Given the description of an element on the screen output the (x, y) to click on. 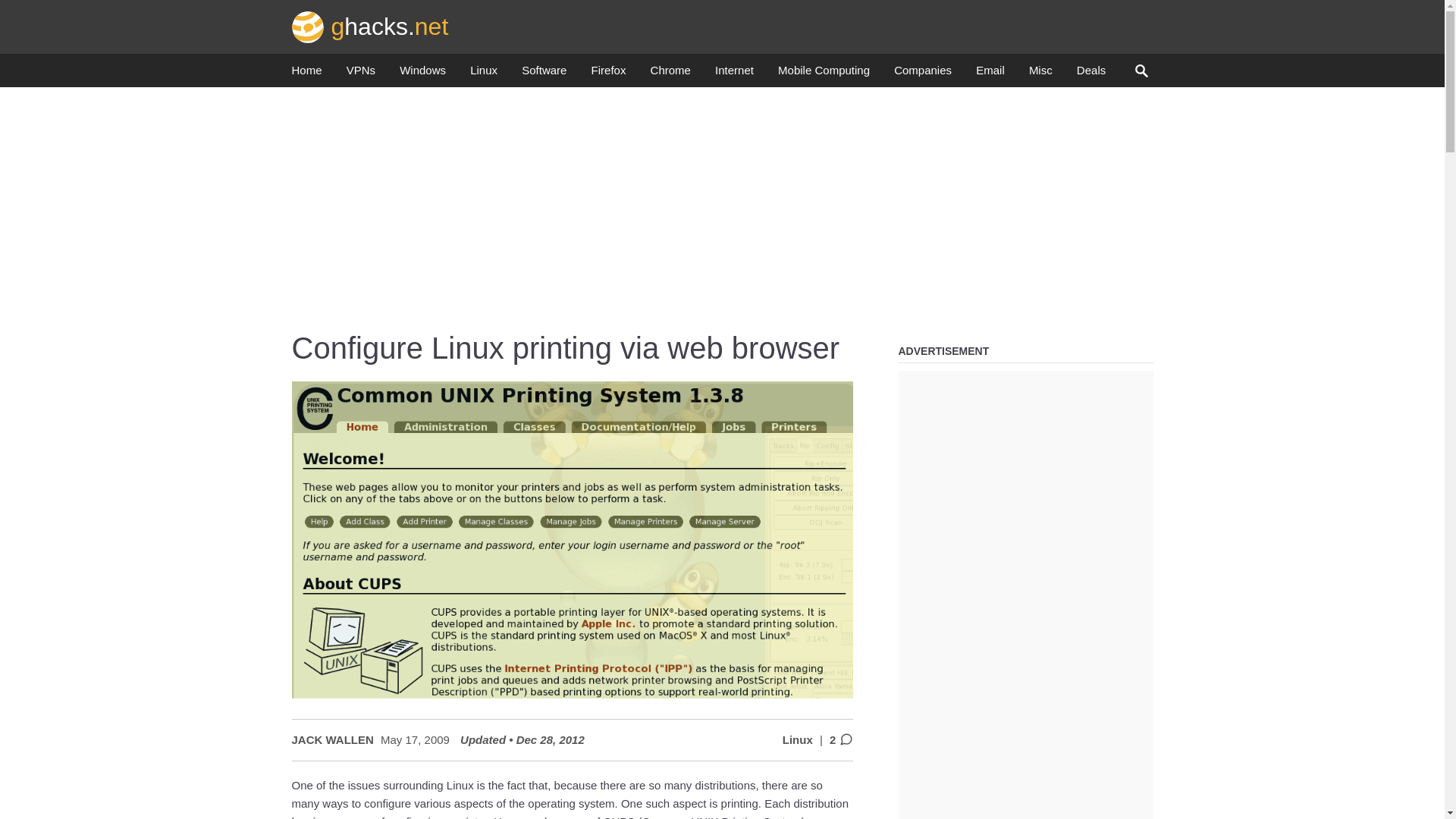
Mobile Computing (823, 73)
Software (543, 73)
Windows (421, 73)
Home (306, 73)
ghacks.net (369, 26)
Firefox (608, 73)
Deals (1091, 73)
Email (989, 73)
Misc (1040, 73)
Linux (483, 73)
Internet (734, 73)
Chrome (670, 73)
Companies (922, 73)
VPNs (360, 73)
